Given the description of an element on the screen output the (x, y) to click on. 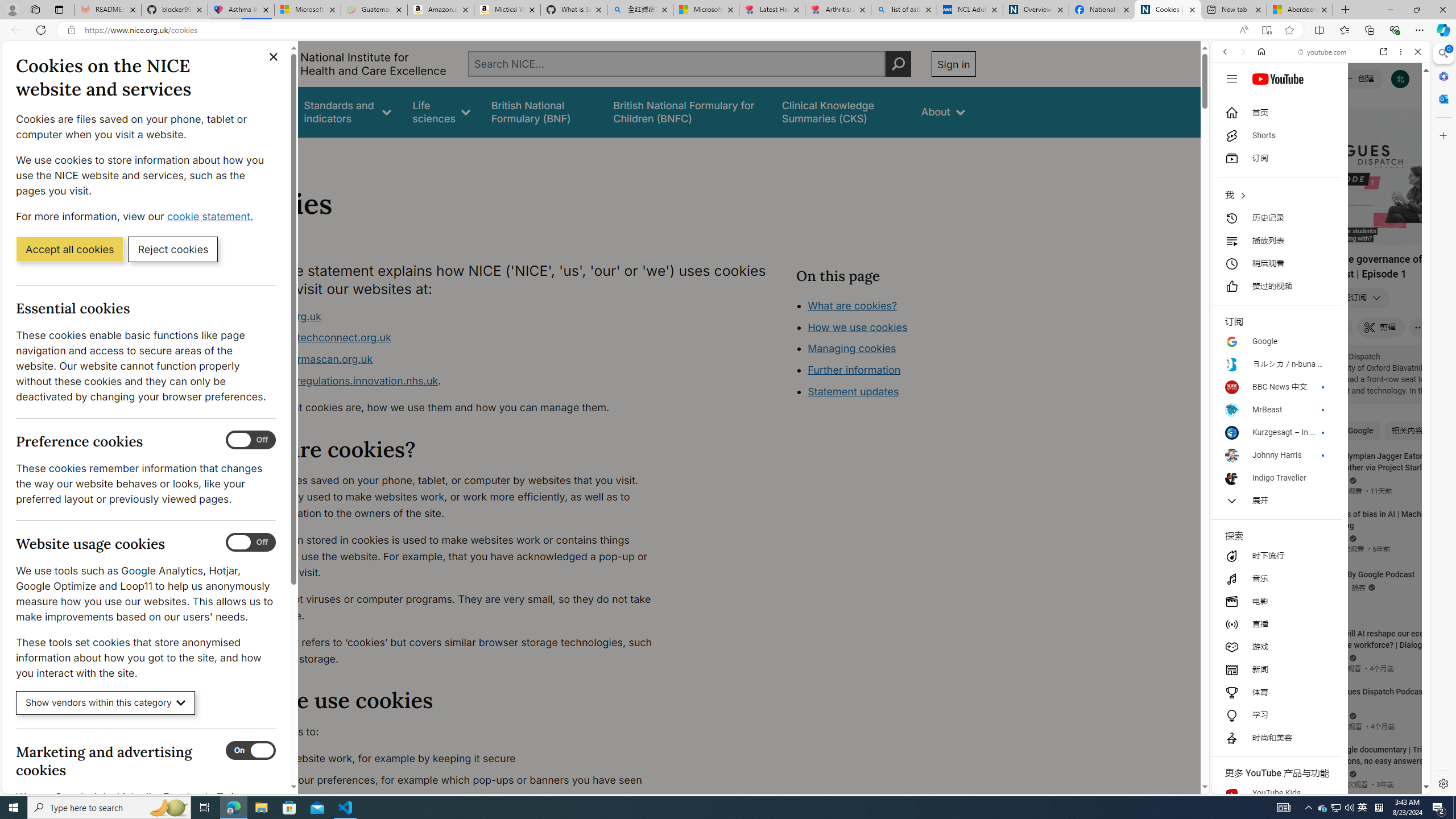
Close Customize pane (1442, 135)
www.nice.org.uk (279, 315)
SEARCH TOOLS (1350, 130)
Show vendors within this category (105, 703)
